Given the description of an element on the screen output the (x, y) to click on. 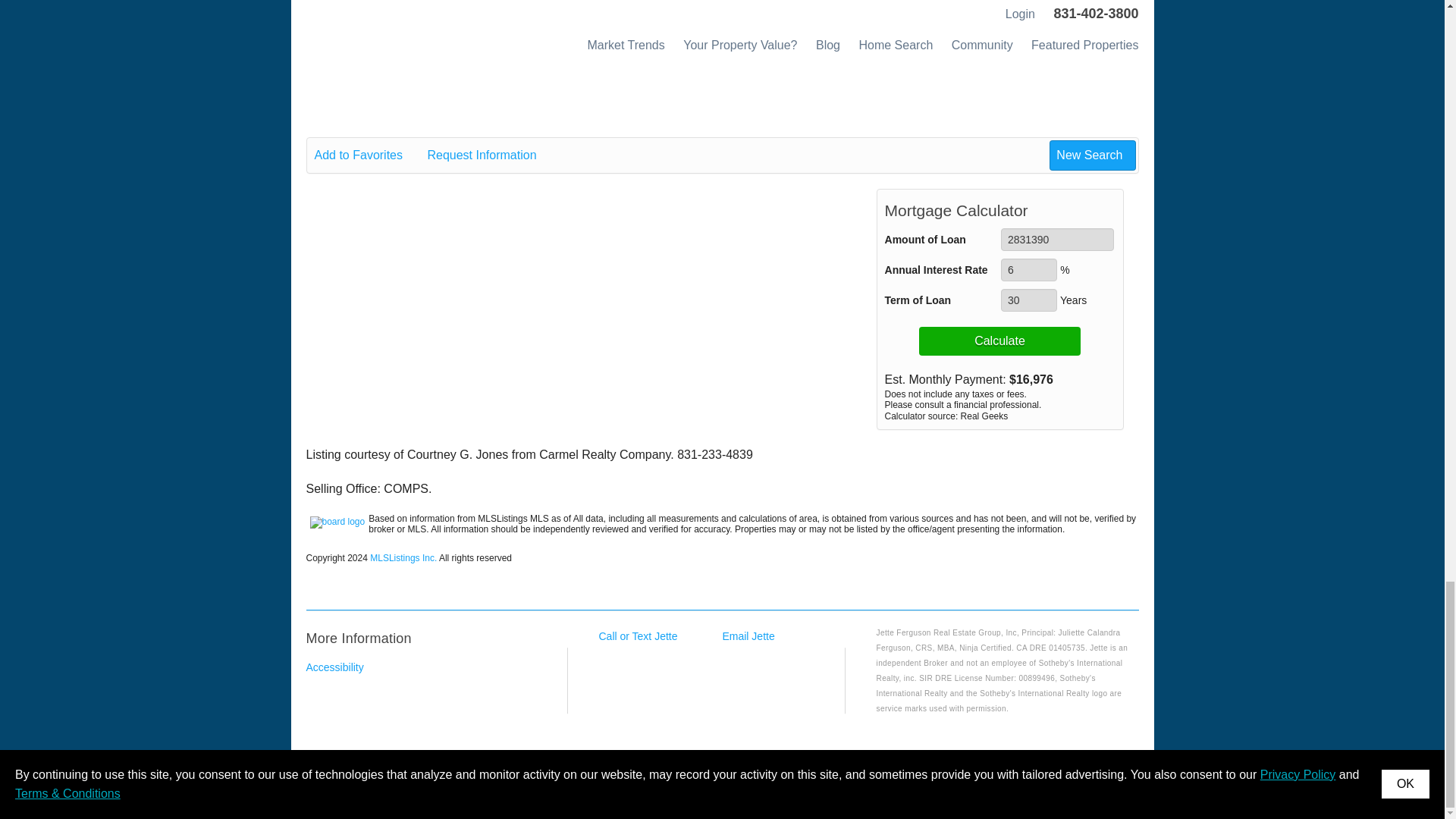
30 (1029, 300)
6 (1029, 269)
2831390 (1057, 239)
